Given the description of an element on the screen output the (x, y) to click on. 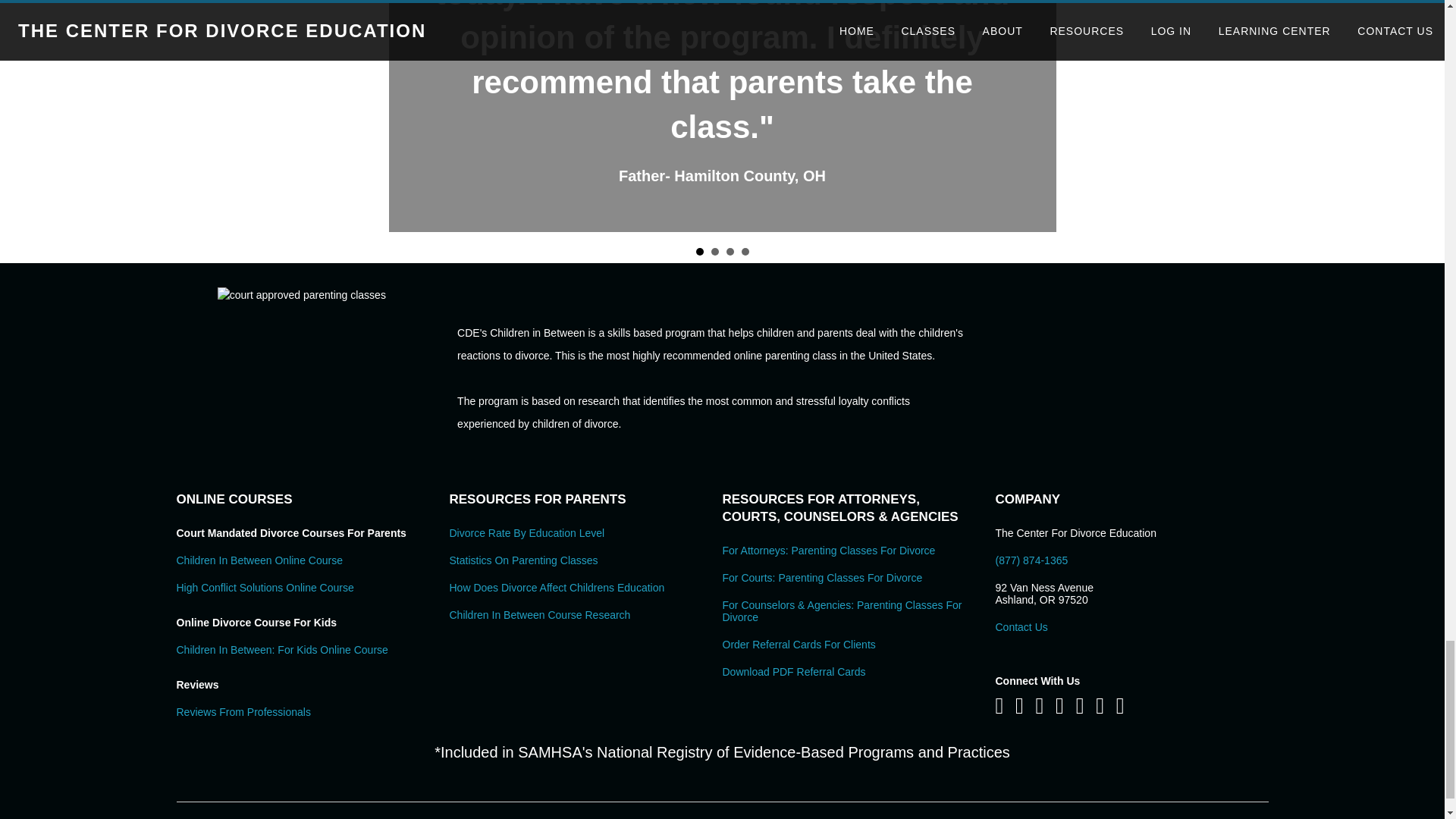
How Does Divorce Affect Childrens Education (555, 587)
High Conflict Solutions Online Course (264, 587)
3 (729, 251)
Divorce Rate By Education Level (526, 532)
4 (745, 251)
Children In Between: For Kids Online Course (281, 649)
Reviews From Professionals (243, 711)
2 (715, 251)
Children In Between Online Course (259, 560)
Children In Between Course Research (539, 614)
Statistics On Parenting Classes (522, 560)
1 (699, 251)
